Given the description of an element on the screen output the (x, y) to click on. 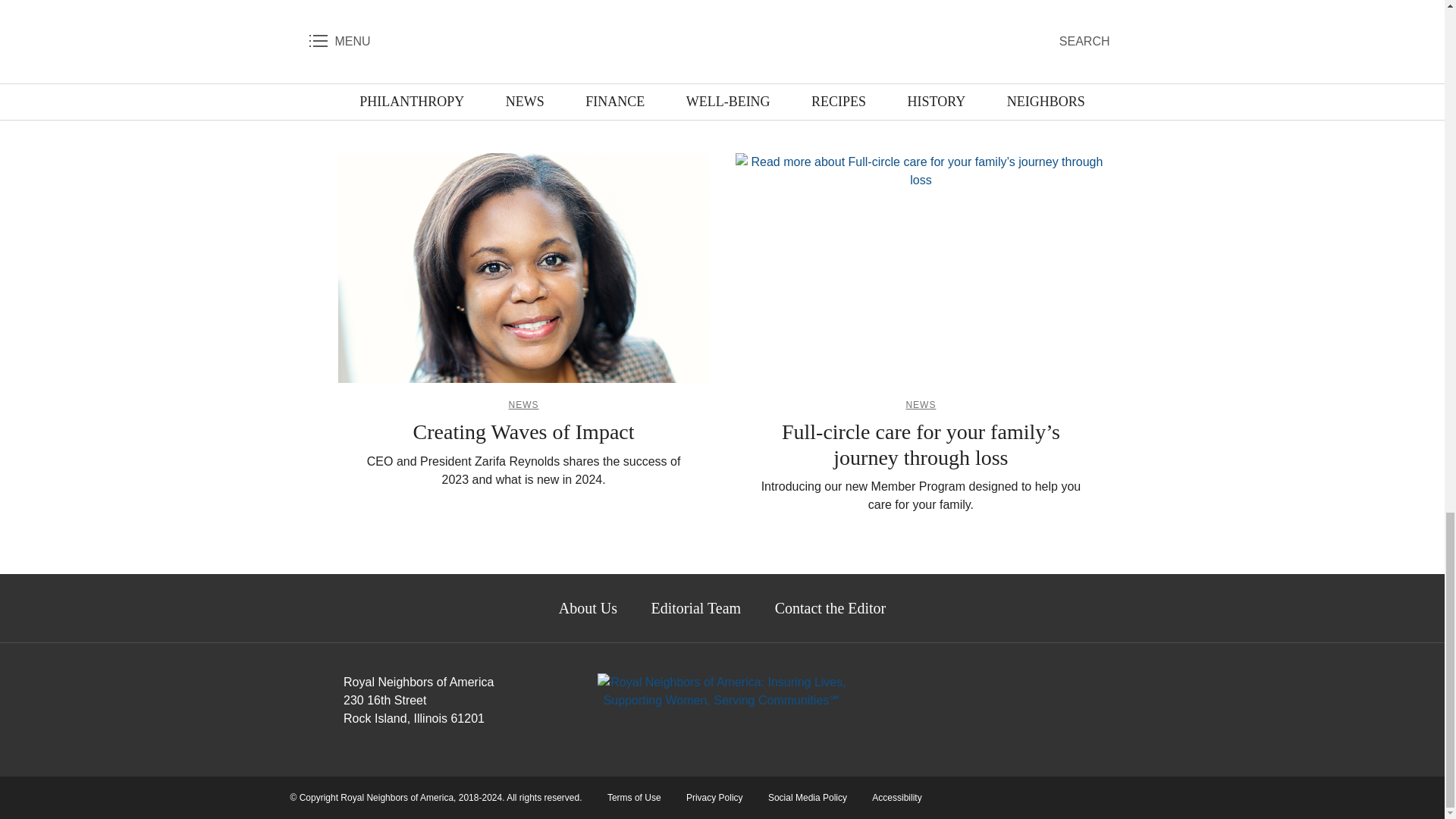
About Us (587, 607)
Facebook (690, 53)
Share on Pinterest (753, 53)
Pinterest (753, 53)
Pinterest Page Opens in a New Window (1013, 688)
Instagram Page Opens in a New Window (1051, 688)
Facebook Page Opens in a New Window (898, 688)
LinkedIn (722, 53)
Editorial Team (695, 607)
LinkedIn Page Opens in a New Window (936, 688)
